Given the description of an element on the screen output the (x, y) to click on. 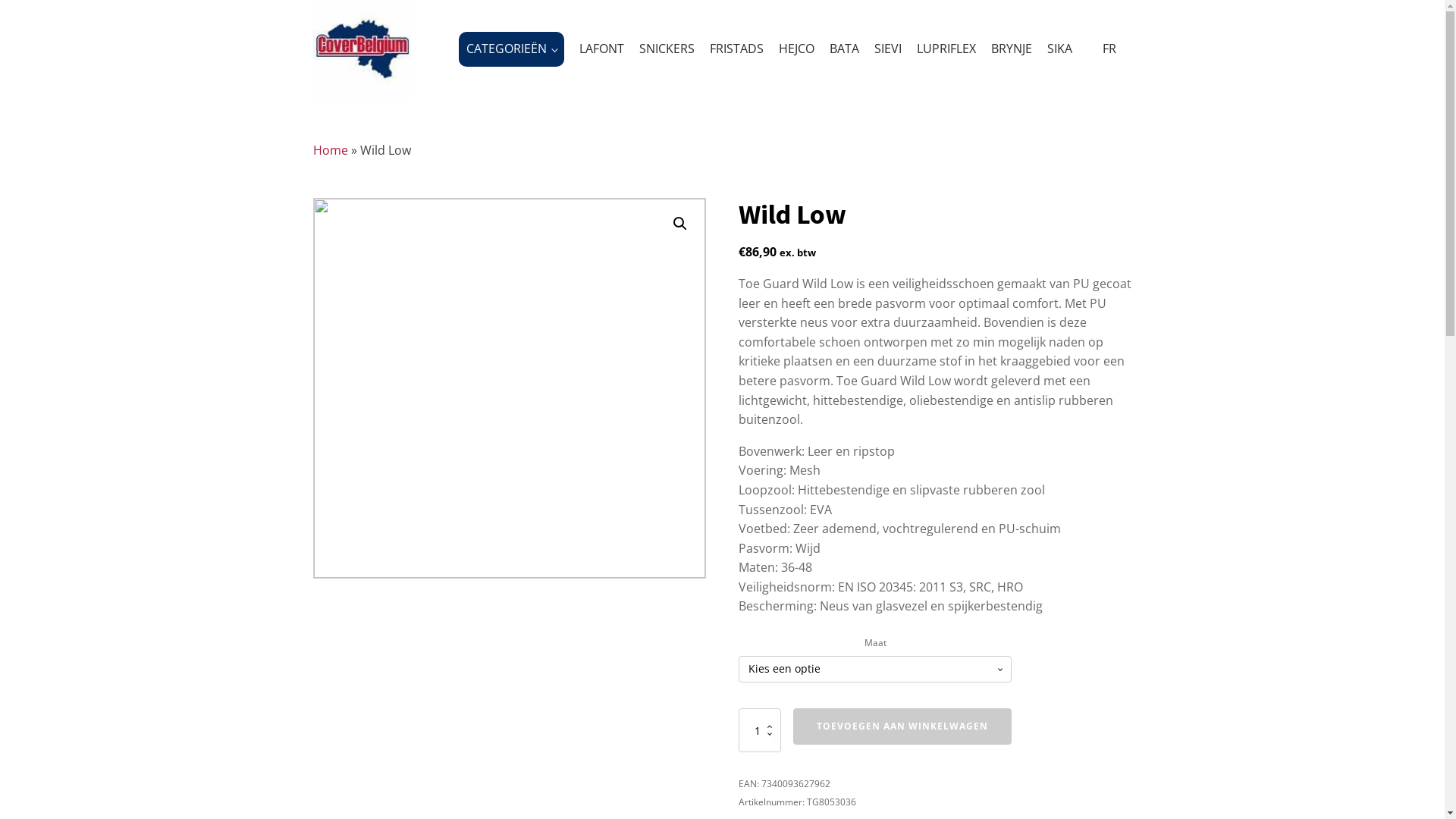
FR Element type: text (1101, 49)
SIEVI Element type: text (880, 49)
Home Element type: text (329, 149)
TOEVOEGEN AAN WINKELWAGEN Element type: text (902, 726)
LAFONT Element type: text (594, 49)
LUPRIFLEX Element type: text (938, 49)
Aantal Element type: hover (759, 730)
BRYNJE Element type: text (1003, 49)
HEJCO Element type: text (788, 49)
BATA Element type: text (836, 49)
FRISTADS Element type: text (728, 49)
TG_-Wild_Low_01_Original_637510963036070000 Element type: hover (509, 387)
SNICKERS Element type: text (659, 49)
SIKA Element type: text (1052, 49)
